Given the description of an element on the screen output the (x, y) to click on. 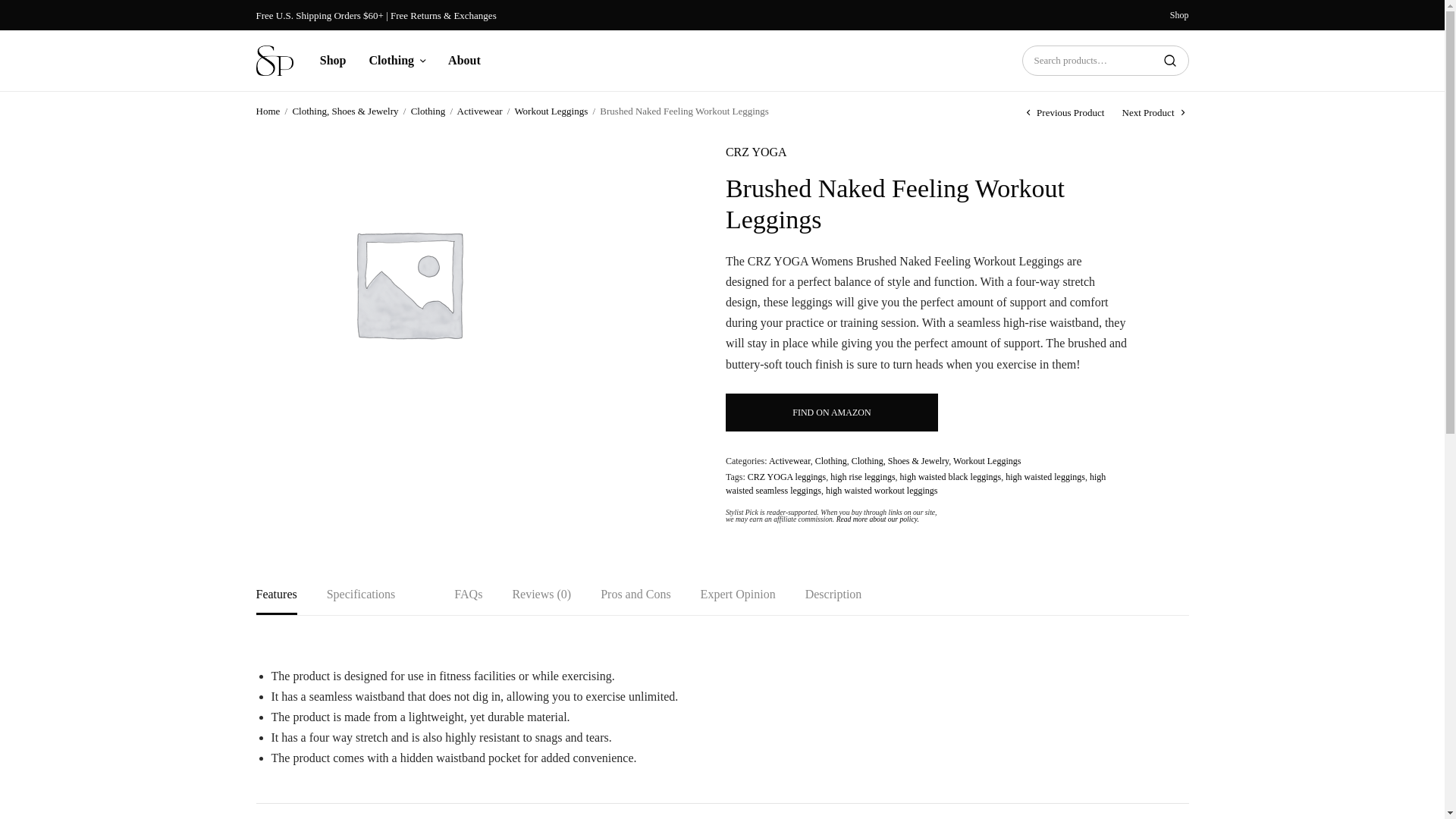
Expert Opinion (738, 601)
Stylist Pick (275, 60)
Workout Leggings (986, 460)
Activewear (479, 111)
Previous Product (1062, 112)
Clothing (397, 60)
Features (276, 601)
Description (833, 601)
Search (1170, 60)
FAQs (467, 601)
Read more about our policy. (876, 519)
CRZ YOGA leggings (787, 476)
FIND ON AMAZON (831, 412)
high waisted workout leggings (881, 490)
Pros and Cons (634, 601)
